Given the description of an element on the screen output the (x, y) to click on. 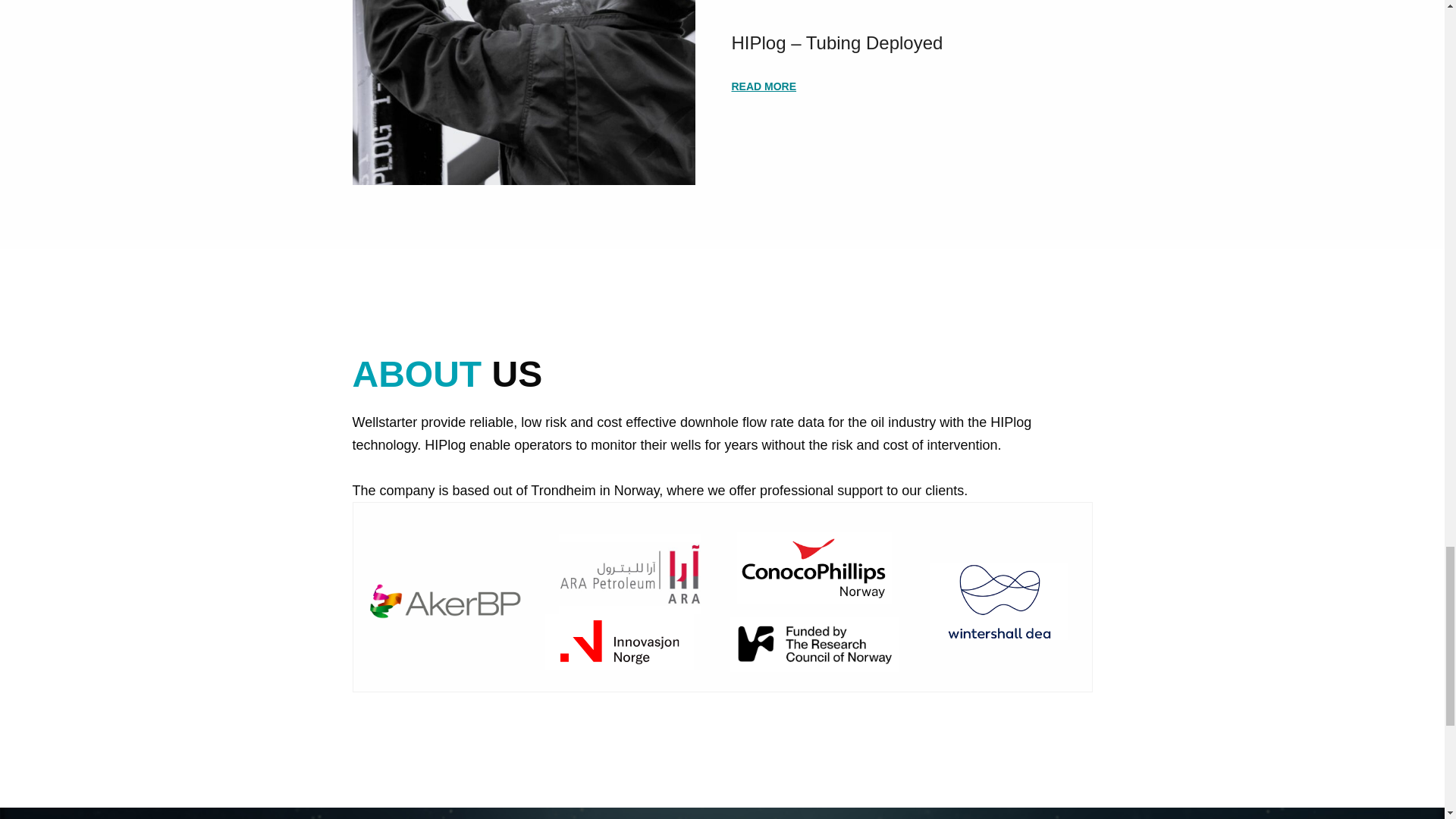
READ MORE (763, 86)
